Given the description of an element on the screen output the (x, y) to click on. 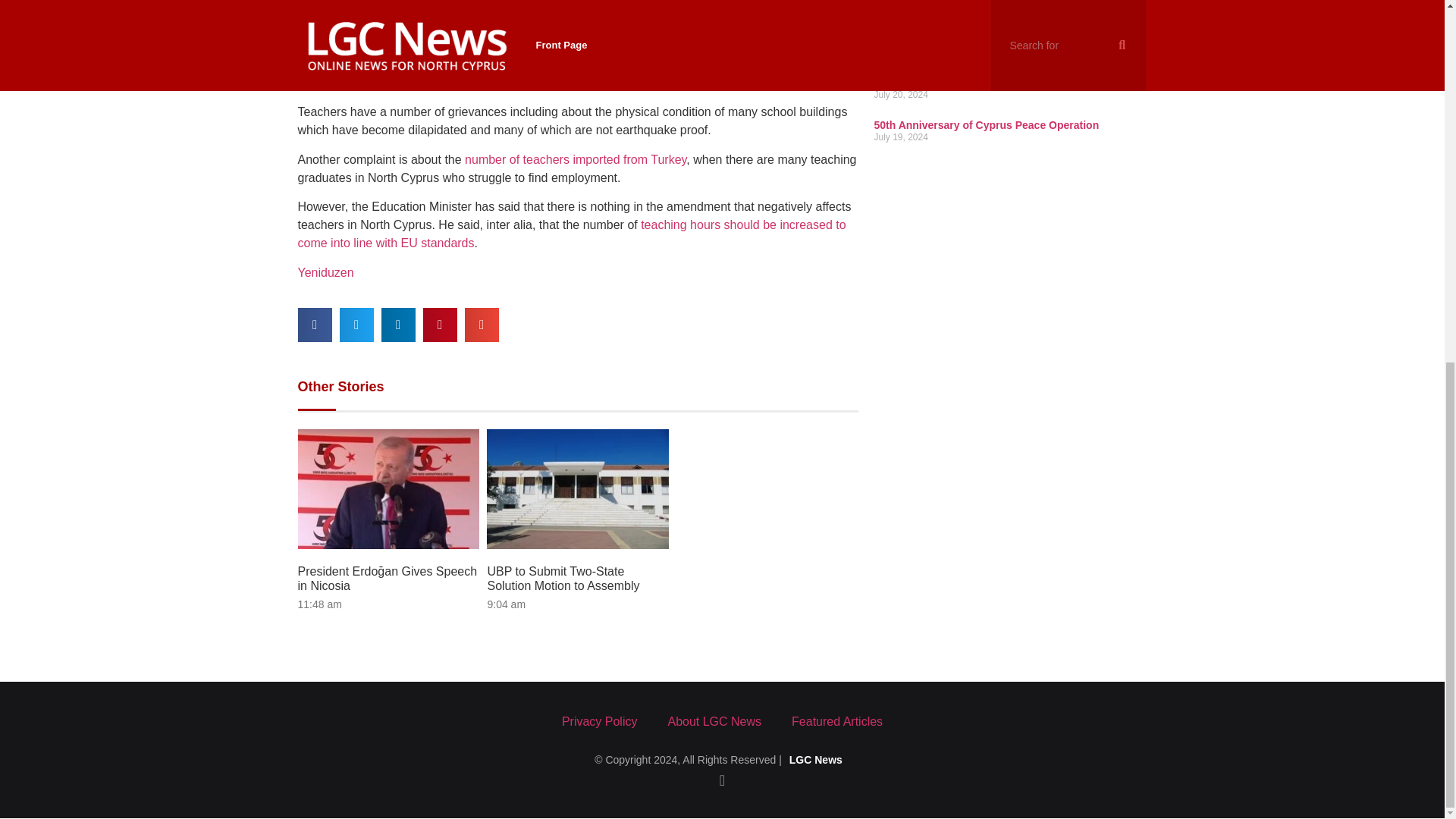
UBP to Submit Two-State Solution Motion to Assembly (562, 578)
Dawn Watch Held at Yavuz Beach (957, 82)
LGC News (816, 759)
Privacy Policy (599, 721)
Featured Articles (837, 721)
Advertisement (578, 13)
number of teachers imported from Turkey (574, 159)
Advertisement (1010, 34)
About LGC News (714, 721)
Yeniduzen (325, 272)
50th Anniversary of Cyprus Peace Operation (986, 124)
